Given the description of an element on the screen output the (x, y) to click on. 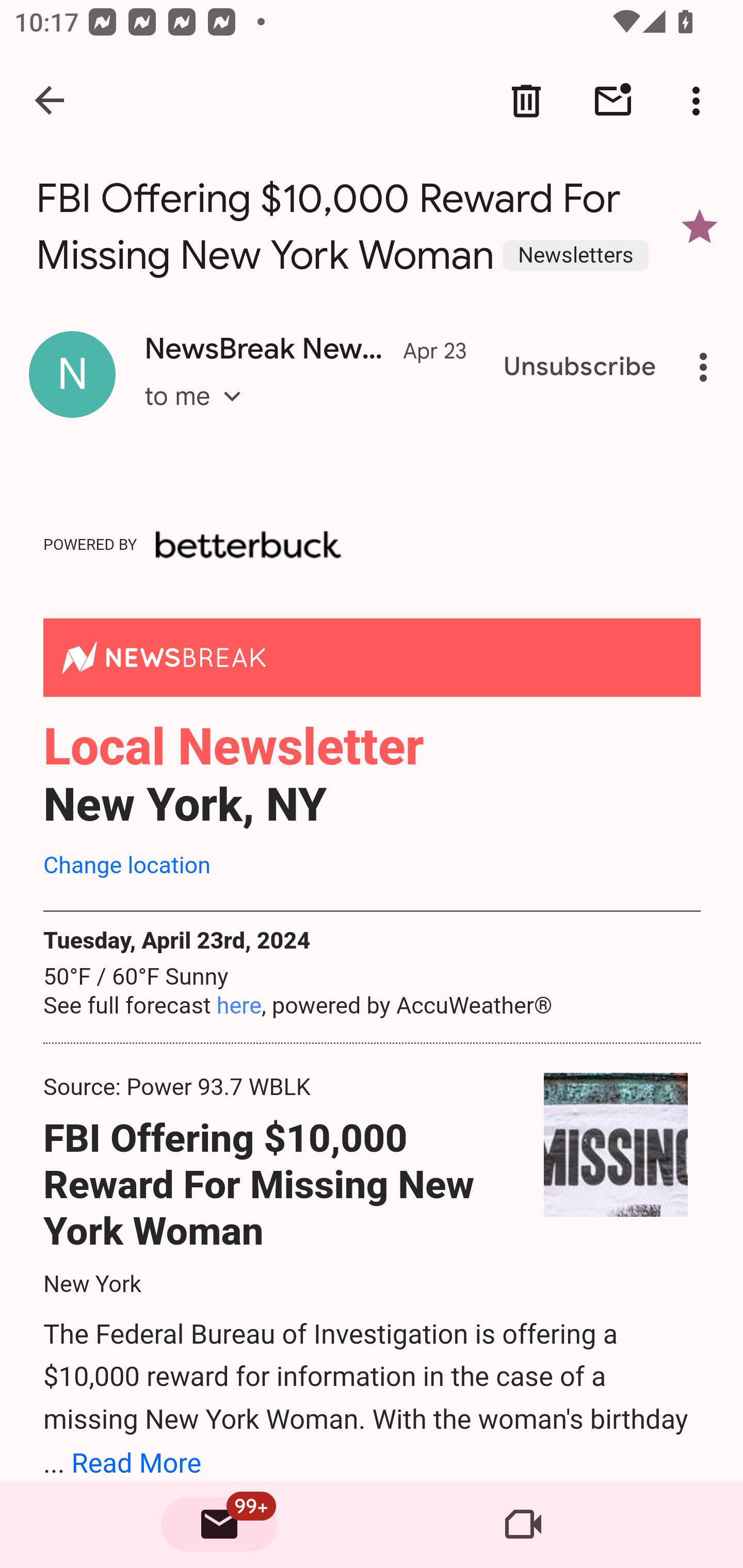
Navigate up (50, 101)
Delete (525, 101)
Mark unread (612, 101)
More options (699, 101)
Remove star (699, 226)
Unsubscribe (579, 367)
More options (706, 367)
Show contact information for NewsBreak New York (71, 373)
to me (199, 414)
info (253, 543)
Change location (127, 864)
here (238, 1004)
Meet (523, 1524)
